Given the description of an element on the screen output the (x, y) to click on. 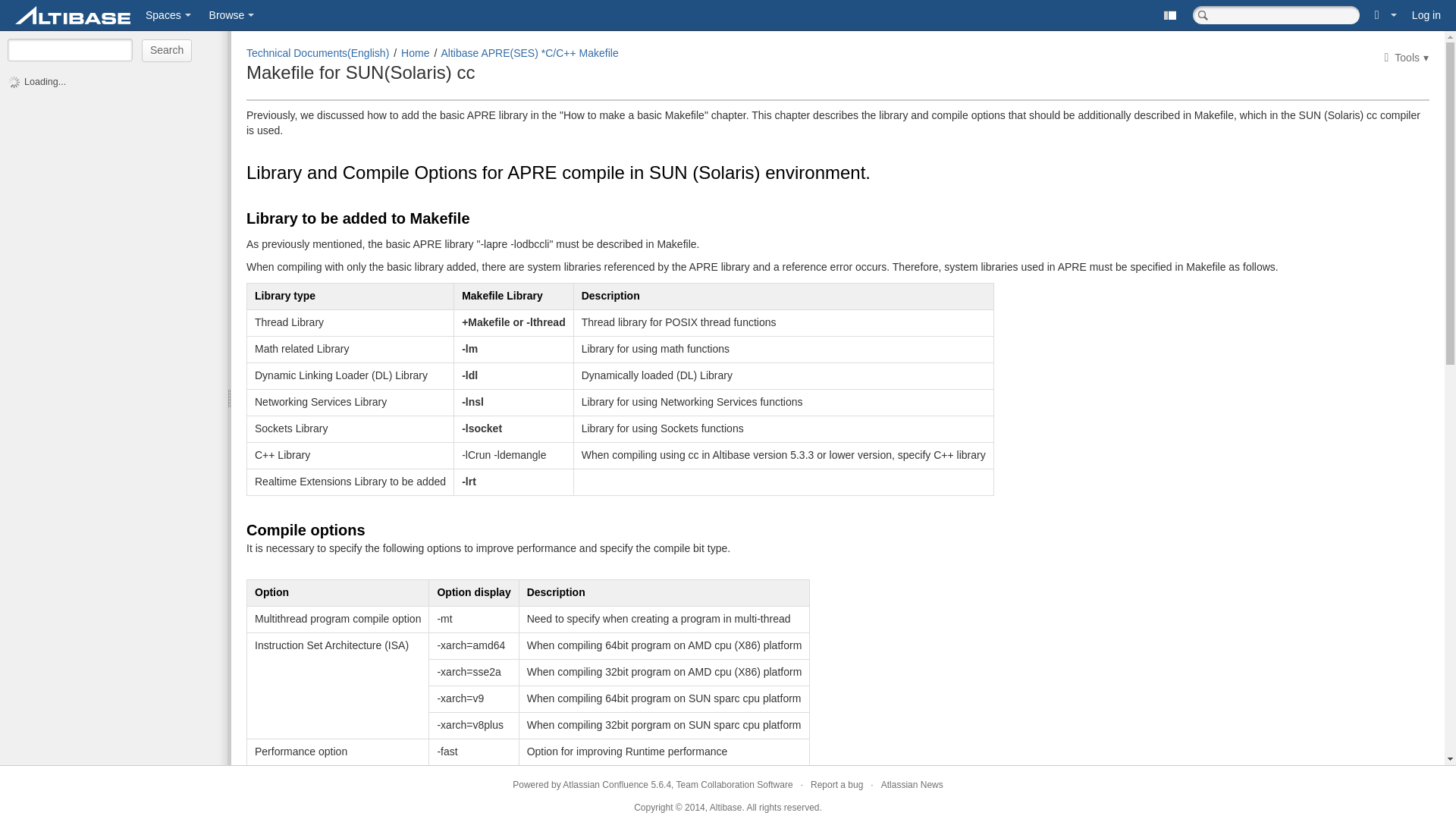
Help (1386, 15)
Search (83, 9)
Browse (232, 15)
Spaces (168, 15)
Quick Search (1275, 14)
Tools (1406, 57)
Spaces (168, 15)
Log in (1426, 15)
Search (166, 50)
